Given the description of an element on the screen output the (x, y) to click on. 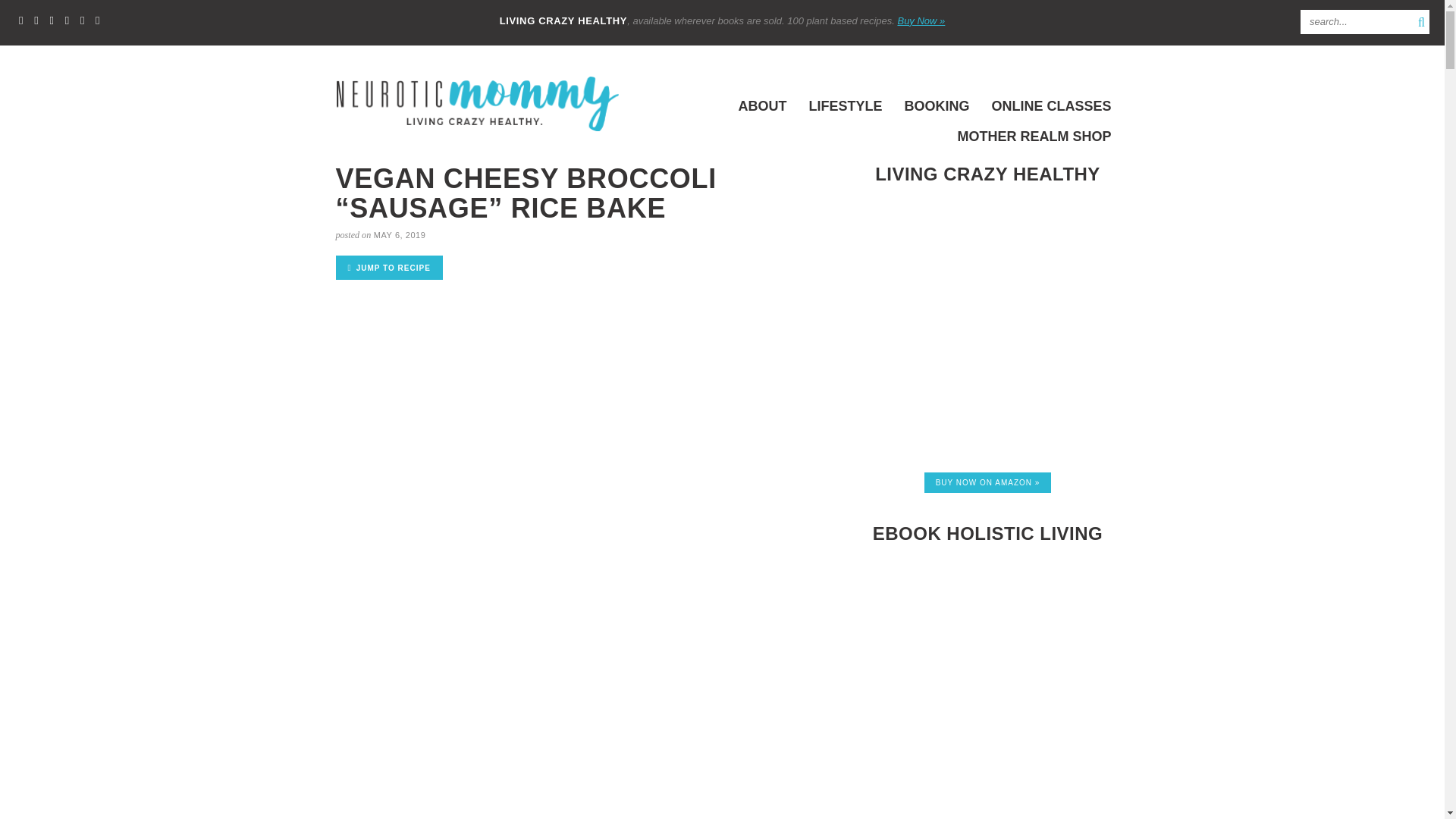
LIFESTYLE (845, 105)
Instagram (82, 20)
RSS (20, 20)
Search (1351, 21)
Pinterest (66, 20)
BOOKING (936, 105)
Twitter (36, 20)
ABOUT (761, 105)
Facebook (50, 20)
Youtube (97, 20)
